Given the description of an element on the screen output the (x, y) to click on. 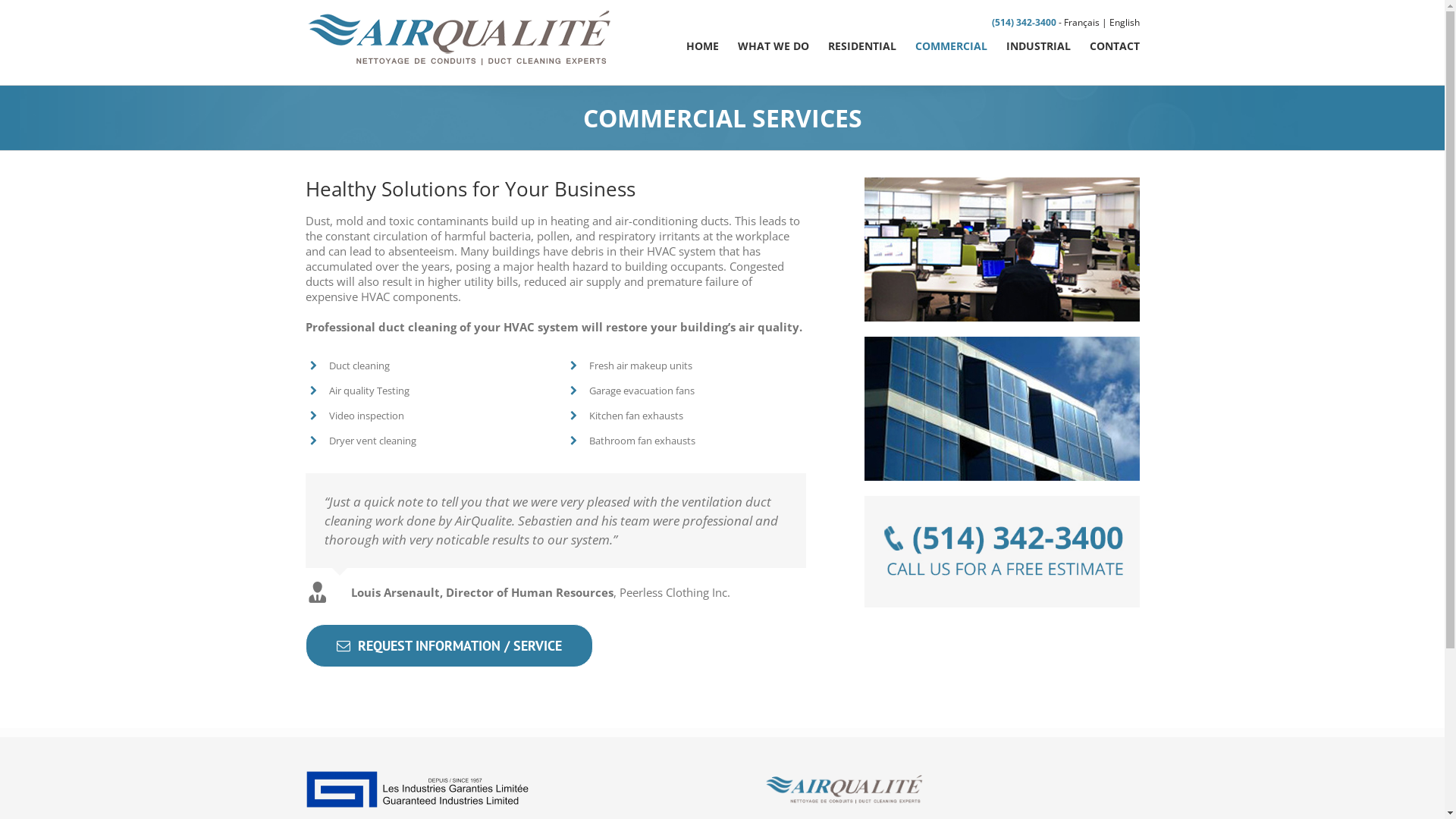
(514) 342-3400 Element type: text (1023, 21)
WHAT WE DO Element type: text (772, 44)
RESIDENTIAL Element type: text (862, 44)
INDUSTRIAL Element type: text (1037, 44)
HOME Element type: text (701, 44)
REQUEST INFORMATION / SERVICE Element type: text (448, 645)
CONTACT Element type: text (1113, 44)
COMMERCIAL Element type: text (950, 44)
English Element type: text (1123, 21)
